Given the description of an element on the screen output the (x, y) to click on. 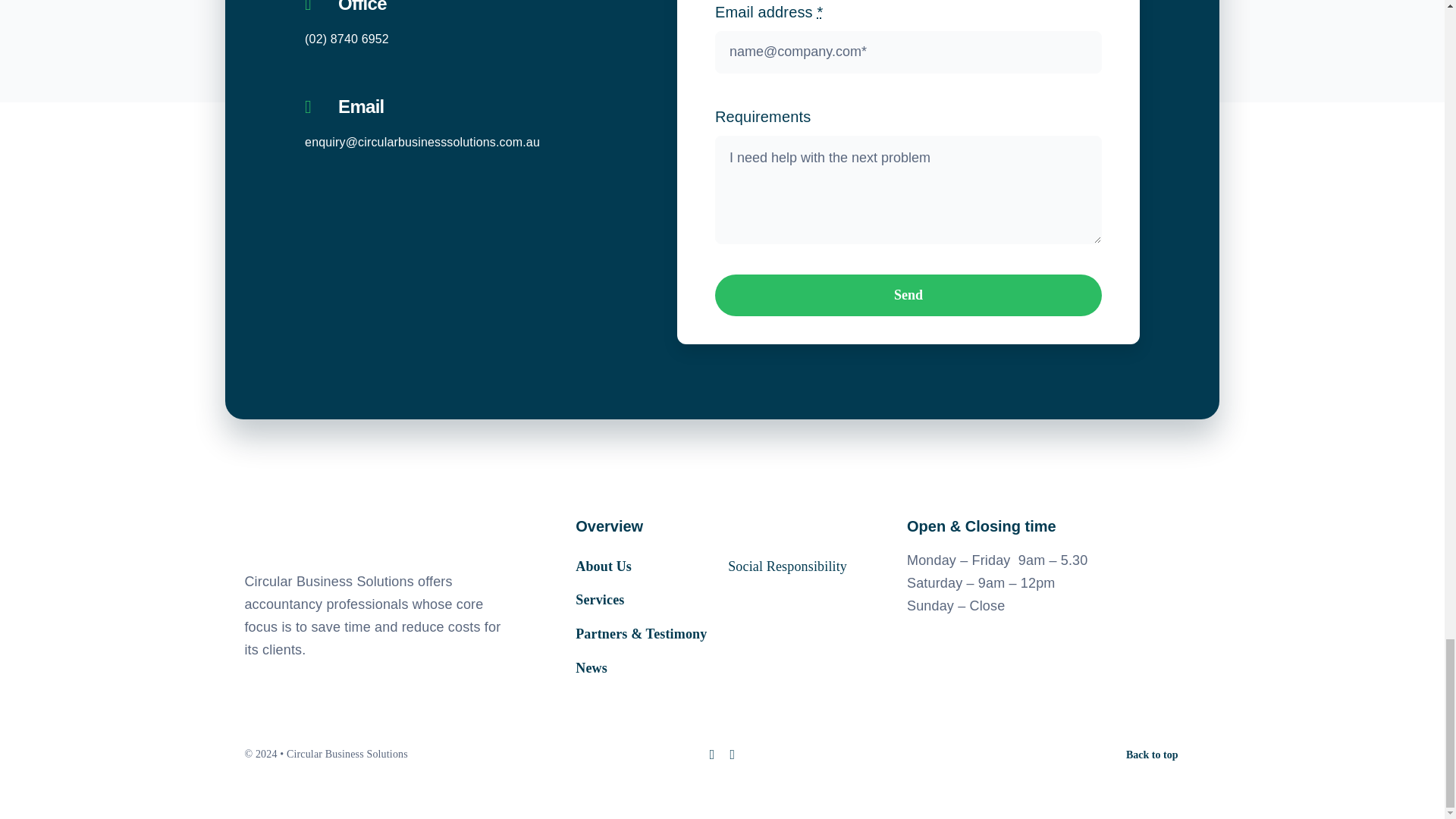
Send (908, 295)
